Given the description of an element on the screen output the (x, y) to click on. 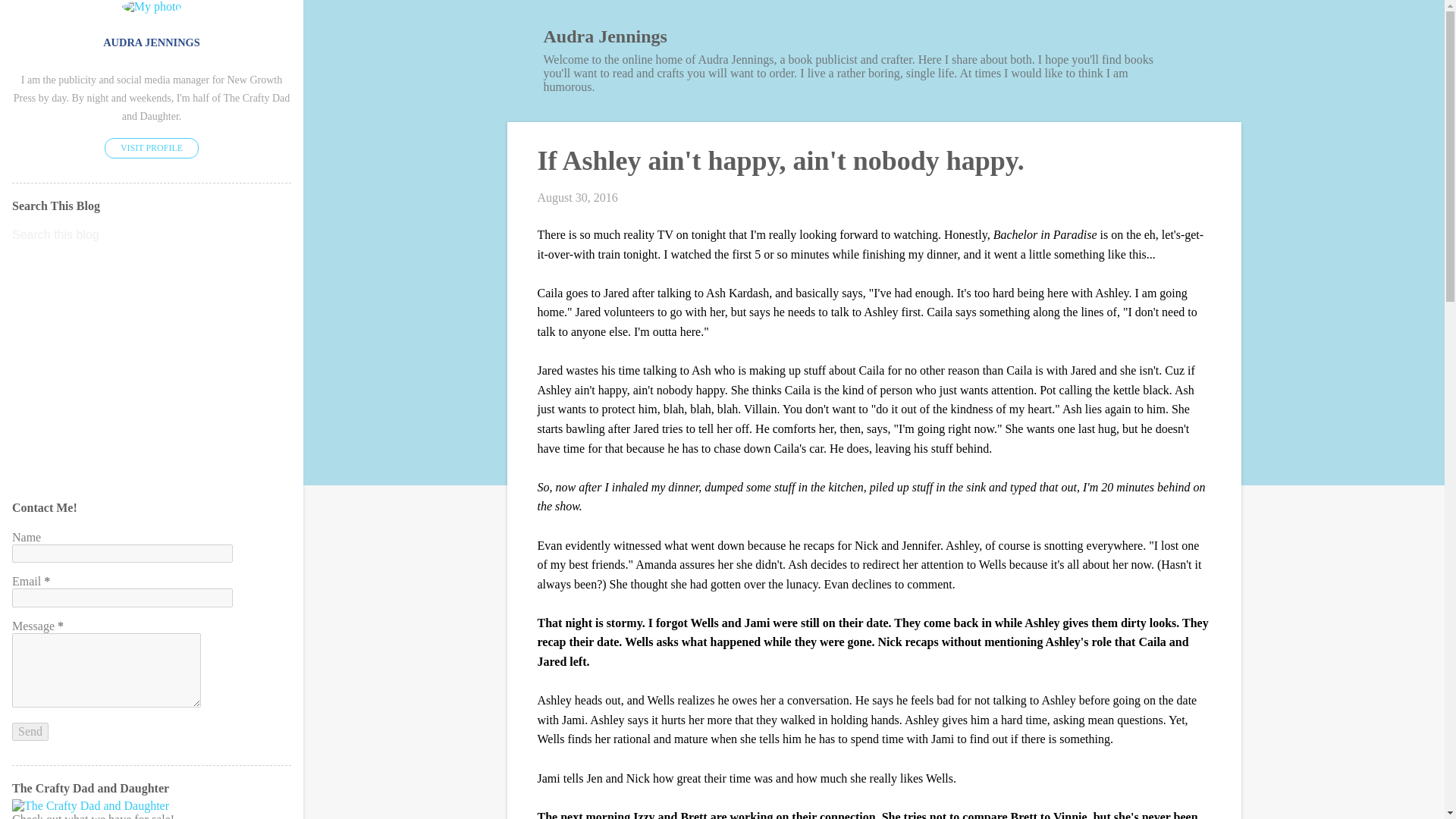
permanent link (577, 196)
AUDRA JENNINGS (151, 42)
August 30, 2016 (577, 196)
VISIT PROFILE (151, 148)
Search (31, 18)
Send (29, 731)
Audra Jennings (604, 35)
